Given the description of an element on the screen output the (x, y) to click on. 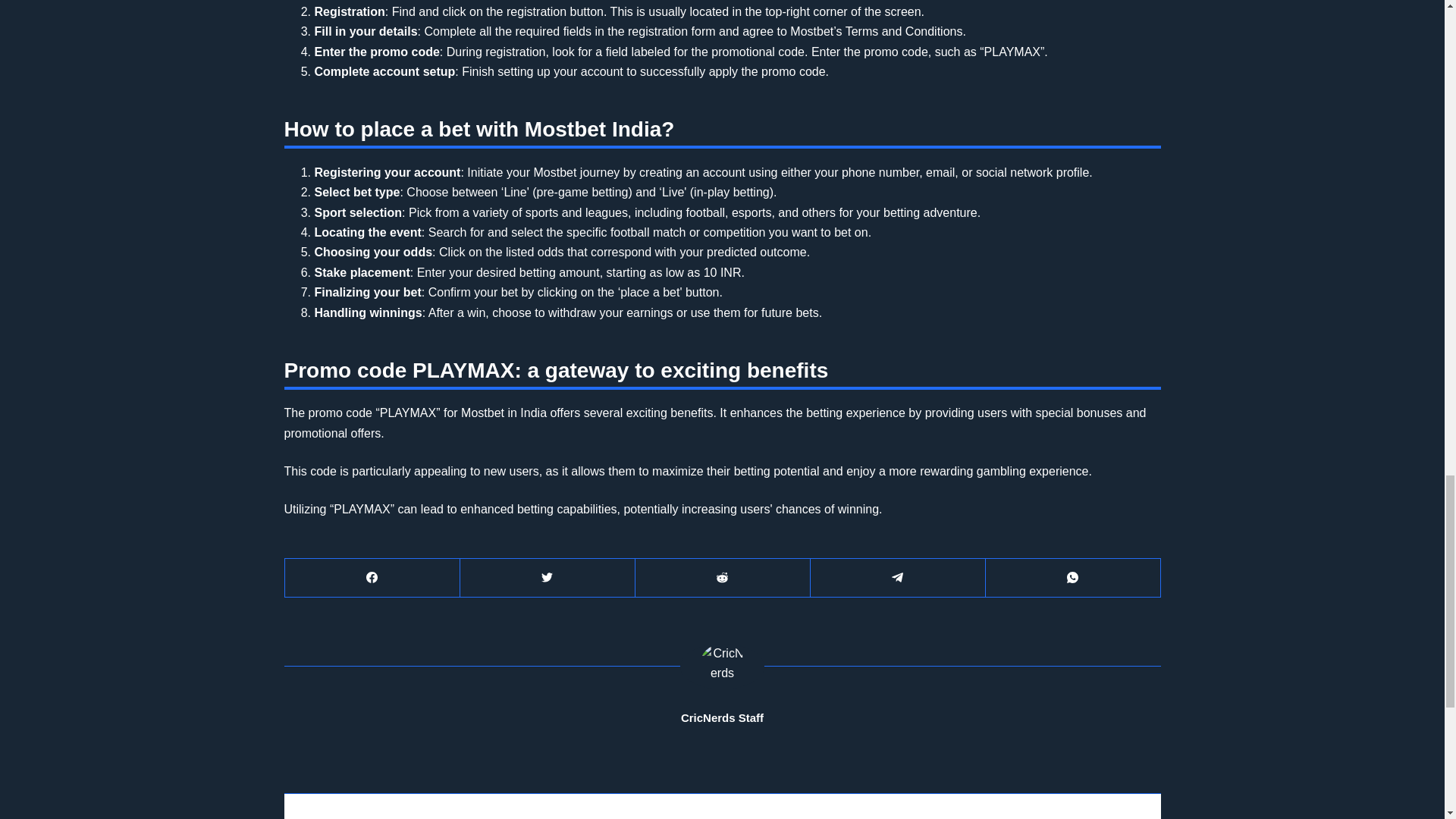
CricNerds Staff (721, 717)
